Given the description of an element on the screen output the (x, y) to click on. 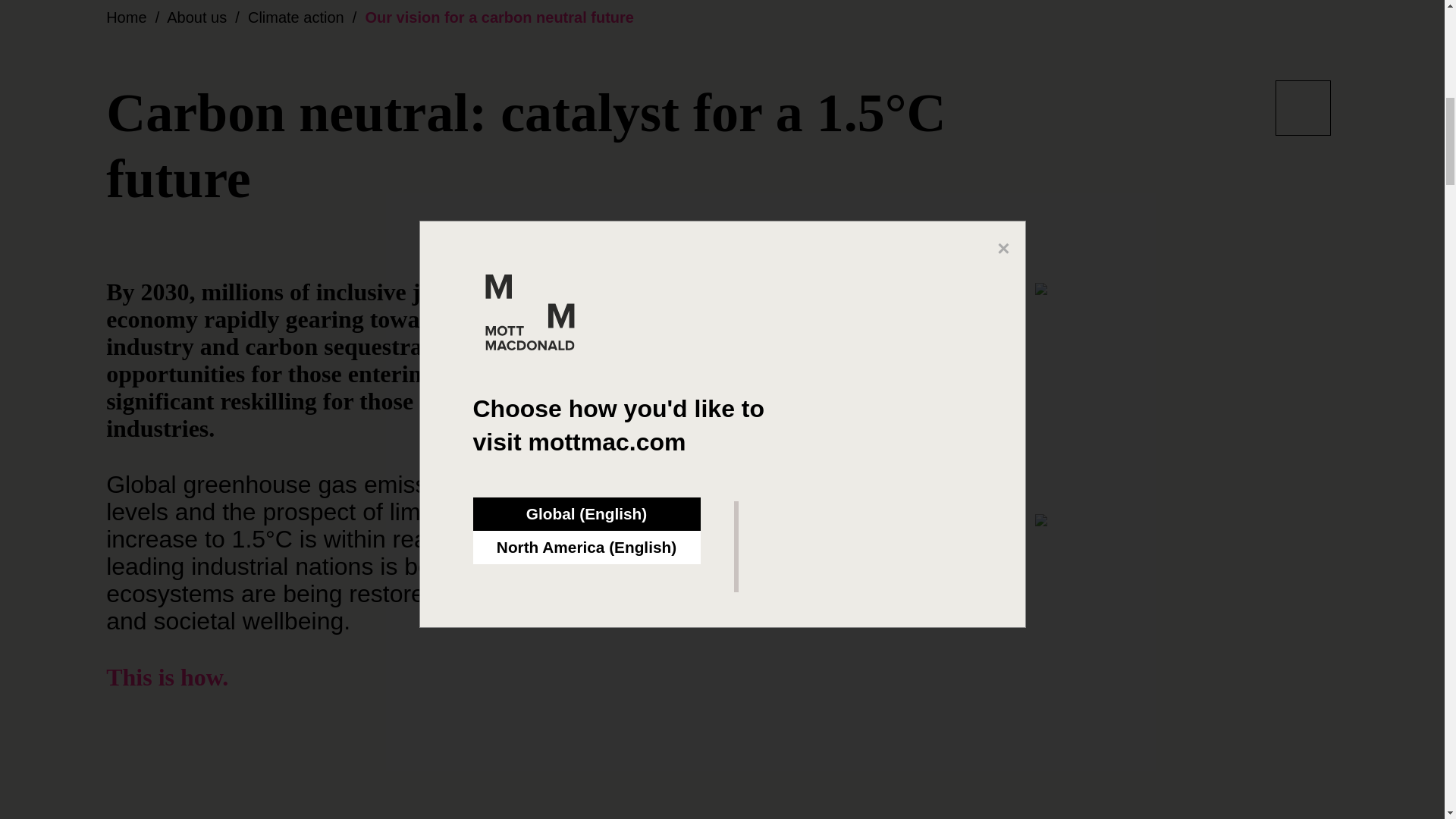
About us (197, 17)
Home (126, 17)
Climate action (295, 17)
